Given the description of an element on the screen output the (x, y) to click on. 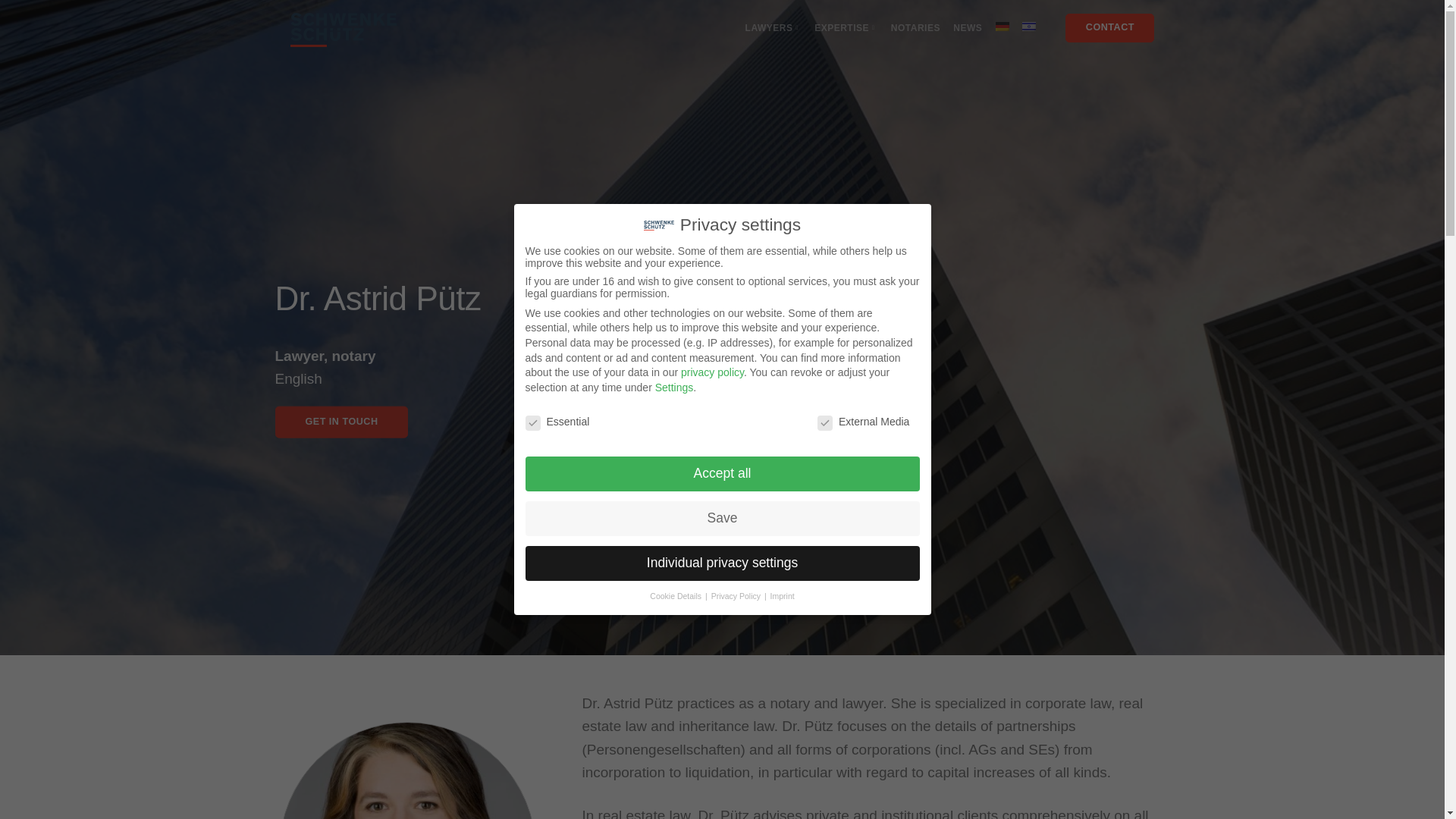
NEWS (967, 27)
NOTARIES (915, 27)
GET IN TOUCH (341, 421)
Bild1 (408, 770)
CONTACT (1109, 27)
